Given the description of an element on the screen output the (x, y) to click on. 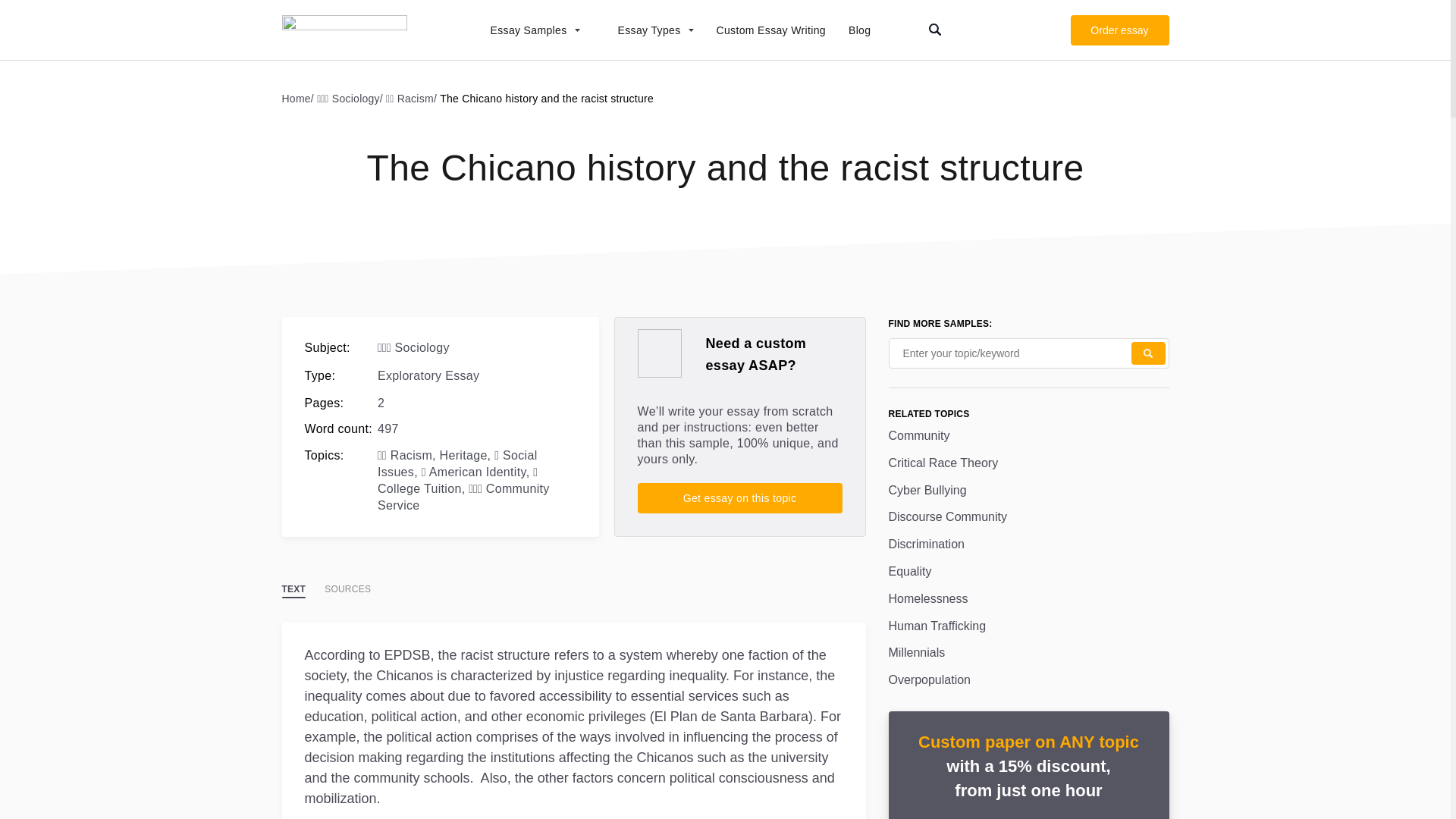
Search (1148, 353)
Essay Types (648, 30)
Go to Examples. (299, 97)
Essay Samples (526, 30)
